Given the description of an element on the screen output the (x, y) to click on. 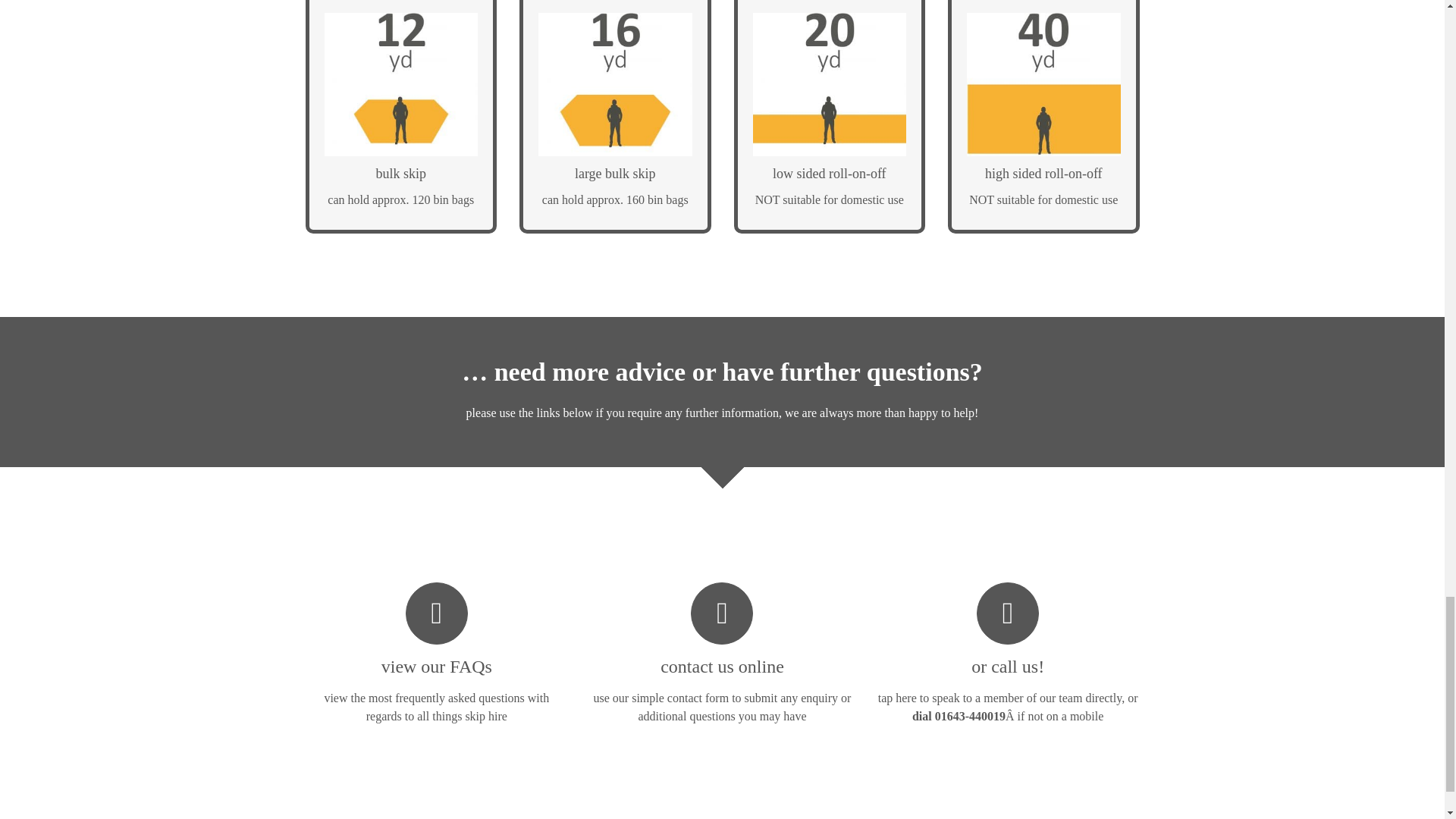
CHECK BEST RATE! (1043, 205)
CHECK BEST RATE! (615, 205)
CHECK BEST RATE! (828, 205)
CHECK BEST RATE! (401, 205)
